Given the description of an element on the screen output the (x, y) to click on. 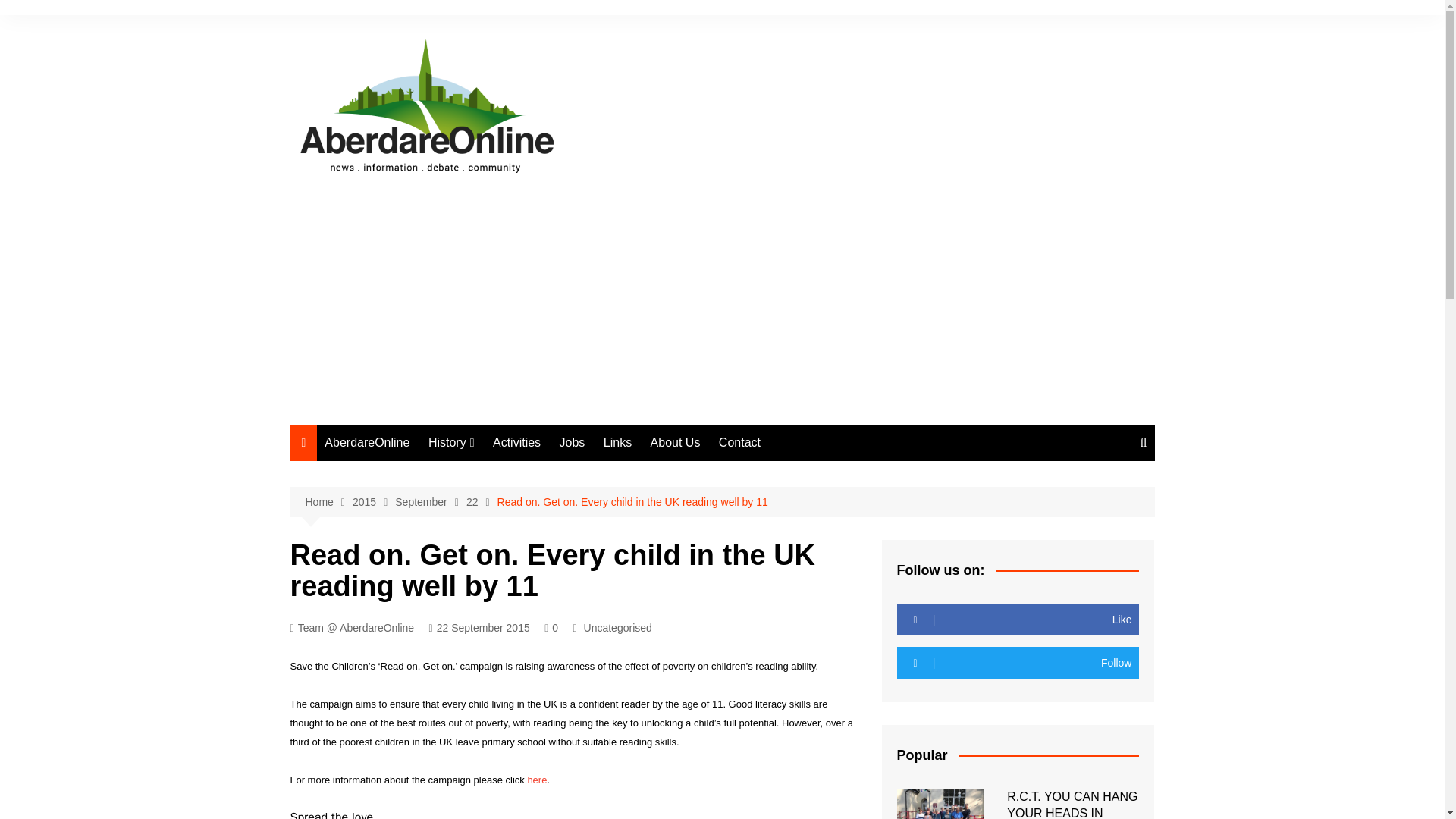
0 (550, 628)
September (429, 502)
22 September 2015 (479, 628)
Abercynon: a historical walk (504, 523)
AberdareOnline (366, 443)
2015 (373, 502)
22 (481, 502)
Home (328, 502)
Uncategorised (617, 627)
About Us (675, 443)
here (537, 779)
Jobs (571, 443)
Activities (516, 443)
History (450, 443)
